Given the description of an element on the screen output the (x, y) to click on. 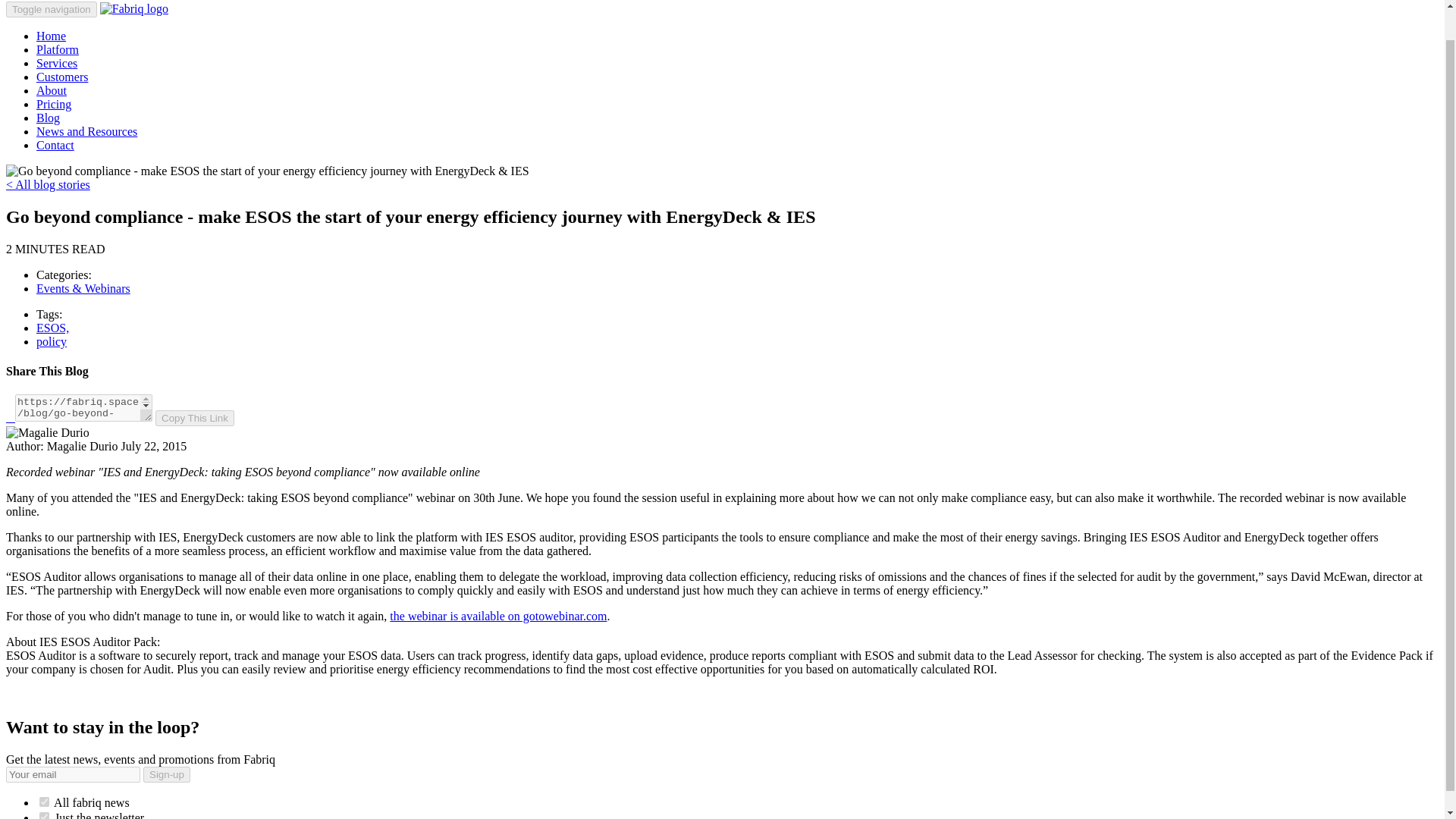
Home (50, 35)
About (51, 90)
Platform (57, 49)
Blog (47, 117)
policy (51, 341)
News and Resources (86, 131)
ESOS, (52, 327)
Magalie Durio (46, 432)
Copy This Link (194, 417)
Services (56, 62)
